Given the description of an element on the screen output the (x, y) to click on. 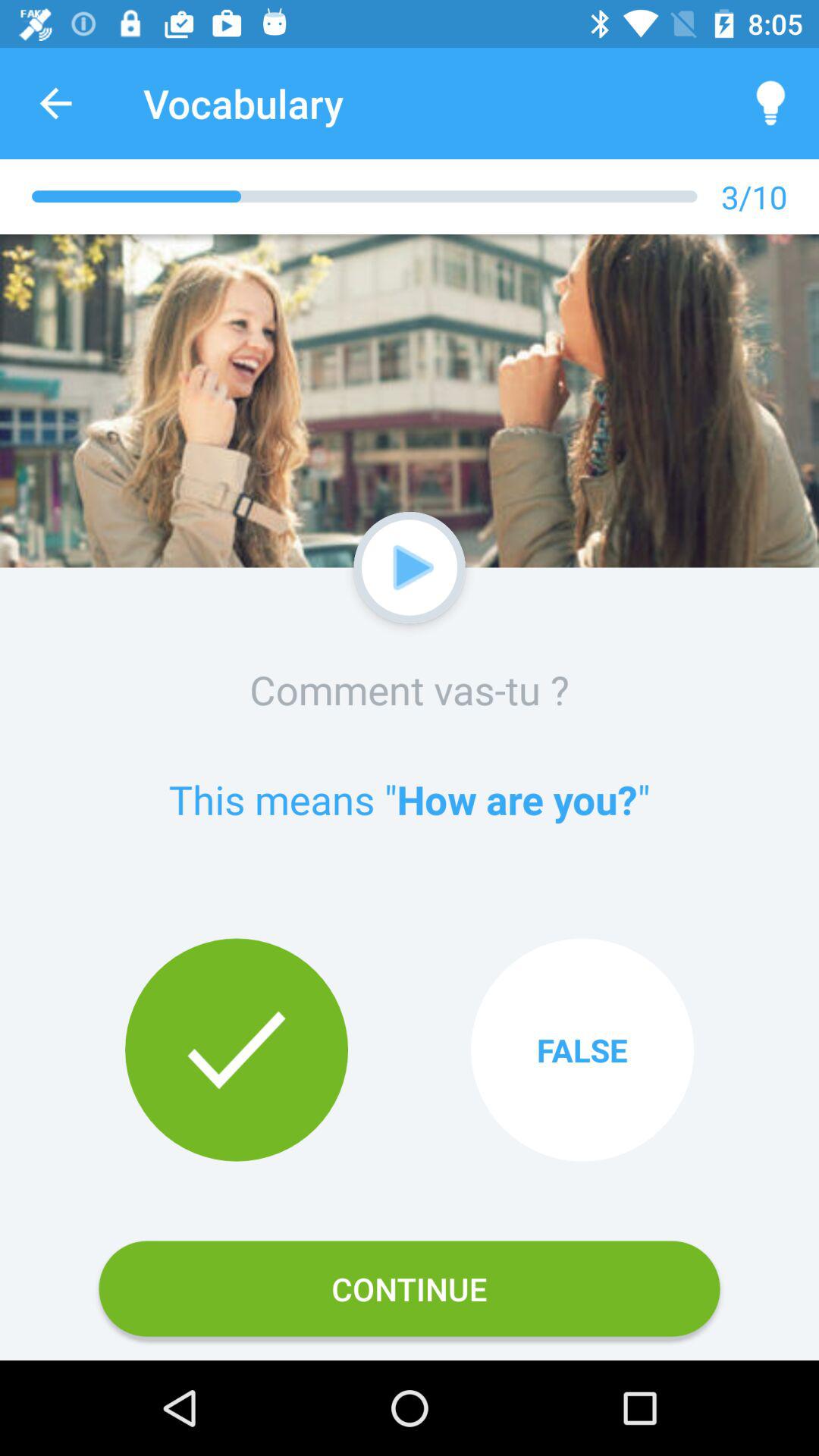
select item to the right of the vocabulary app (771, 103)
